Given the description of an element on the screen output the (x, y) to click on. 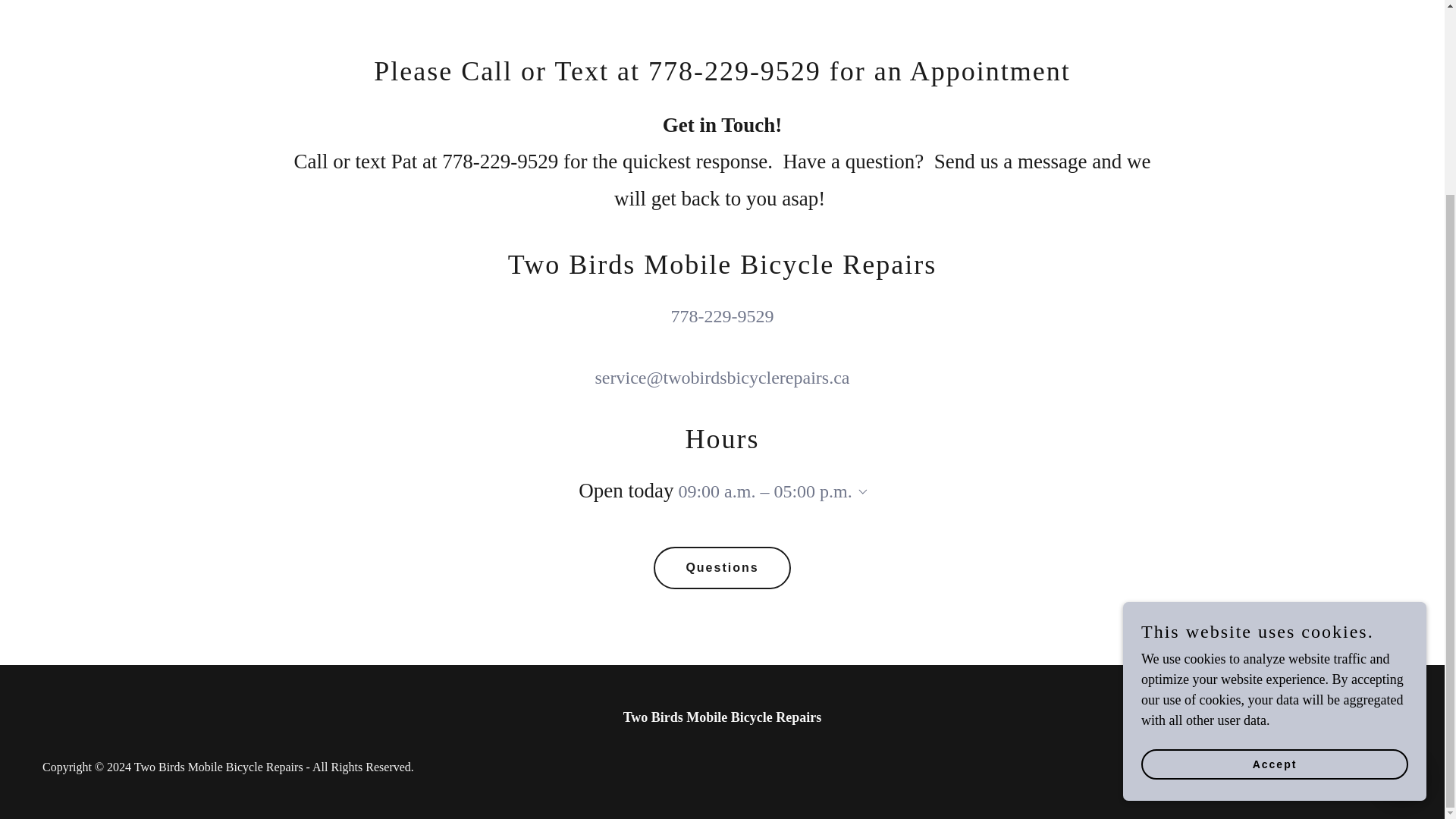
Questions (721, 567)
778-229-9529 (721, 315)
Accept (1274, 519)
GoDaddy (1378, 766)
